Given the description of an element on the screen output the (x, y) to click on. 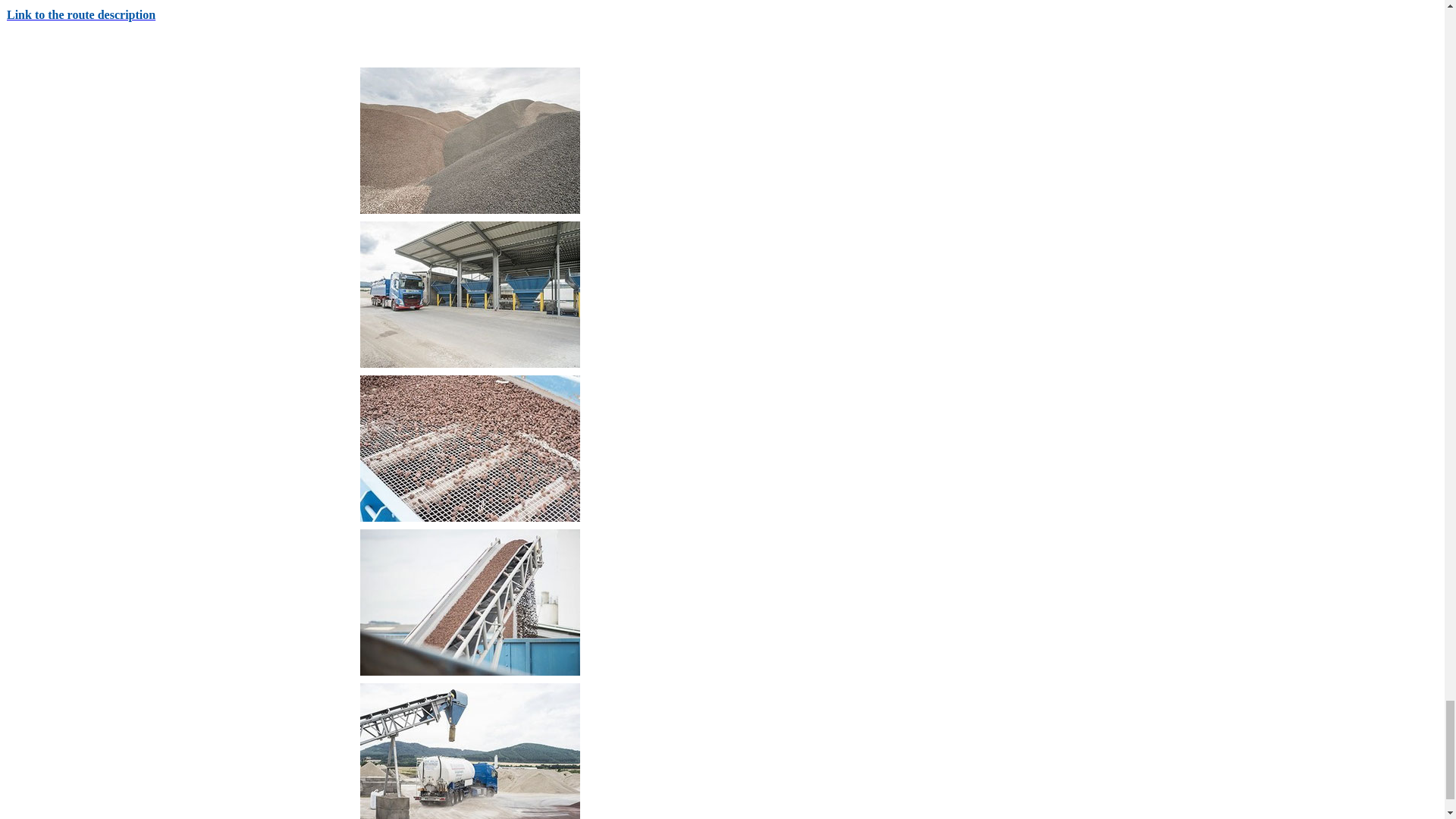
Anfahrt (81, 14)
